Given the description of an element on the screen output the (x, y) to click on. 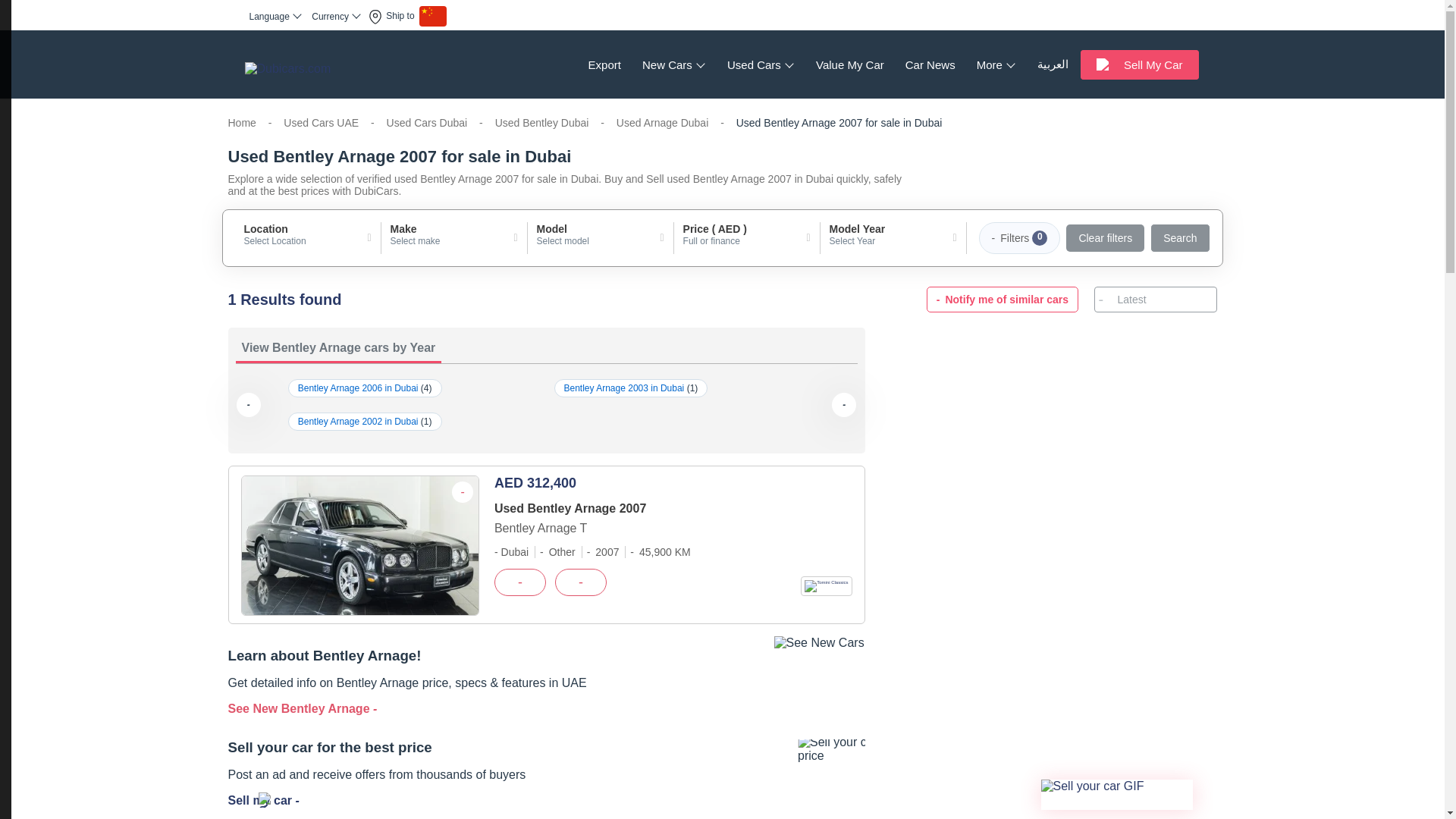
Language (275, 15)
Currency (336, 15)
Used Cars (760, 63)
Value My Car (849, 63)
Car News (929, 63)
View Bentley Arnage cars by Year (545, 348)
New Cars (673, 63)
Sell My Car (1139, 64)
